Given the description of an element on the screen output the (x, y) to click on. 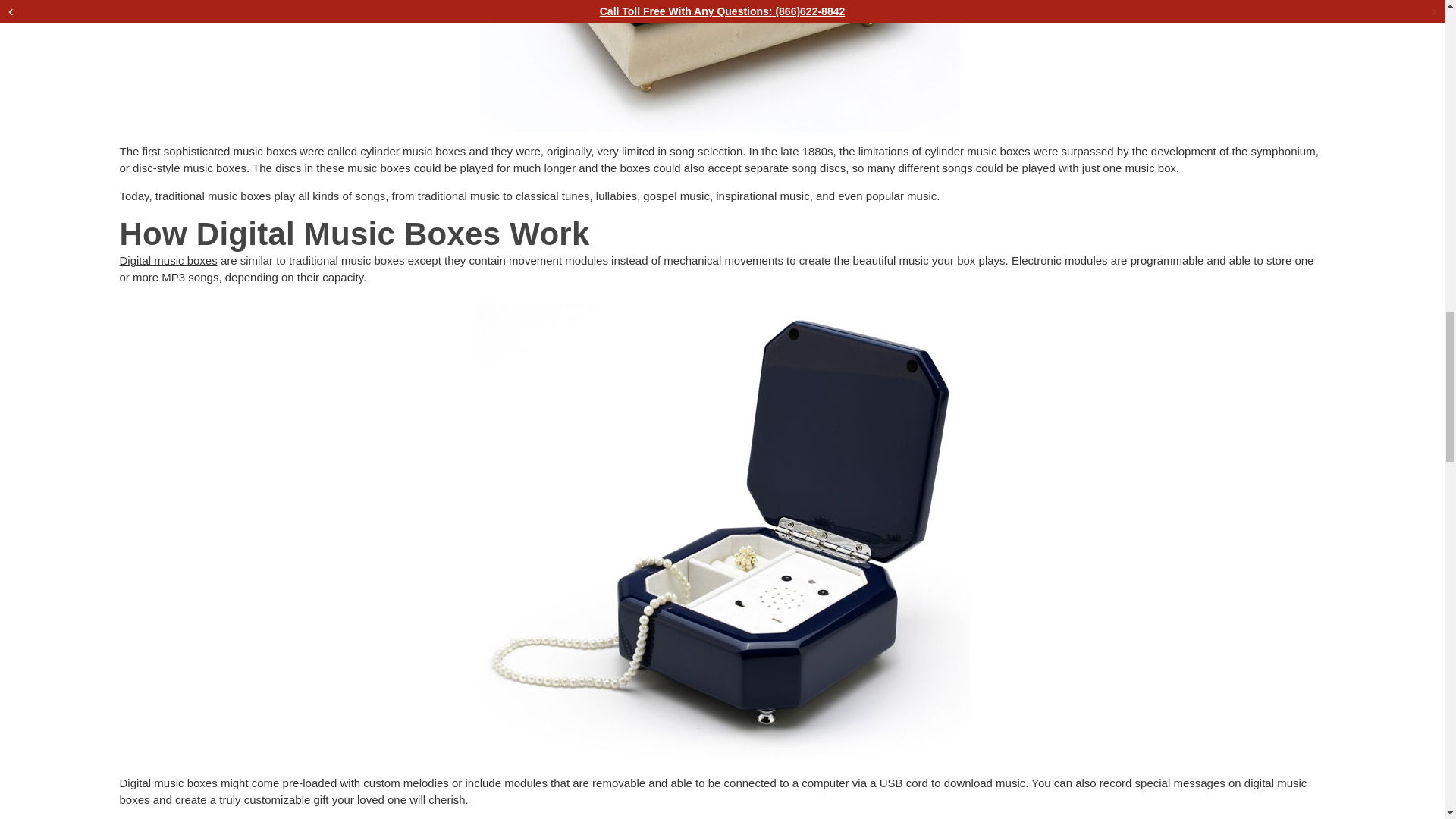
Traditional Ivory Rose Inlay Music Box (721, 65)
